Given the description of an element on the screen output the (x, y) to click on. 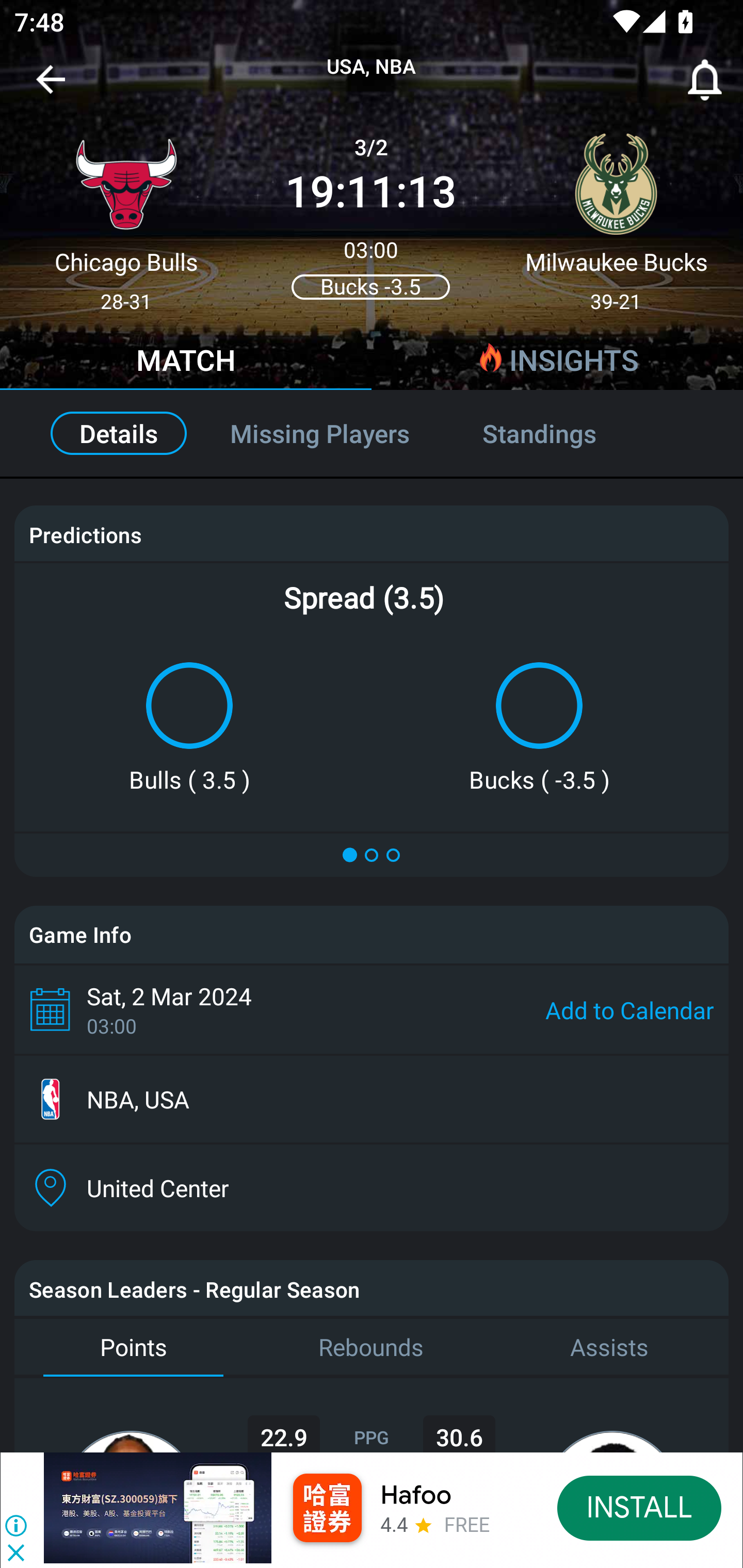
Navigate up (50, 86)
USA, NBA (371, 66)
Chicago Bulls 28-31 (126, 214)
Milwaukee Bucks 39-21 (616, 214)
MATCH (185, 362)
INSIGHTS (557, 362)
Missing Players (319, 433)
Standings (561, 433)
Predictions (85, 534)
Game Info (371, 934)
Sat, 2 Mar 2024 03:00 Add to Calendar (371, 1009)
NBA, USA (371, 1099)
United Center (371, 1187)
Rebounds (371, 1347)
Assists (609, 1347)
INSTALL (639, 1507)
Hafoo (416, 1494)
